Given the description of an element on the screen output the (x, y) to click on. 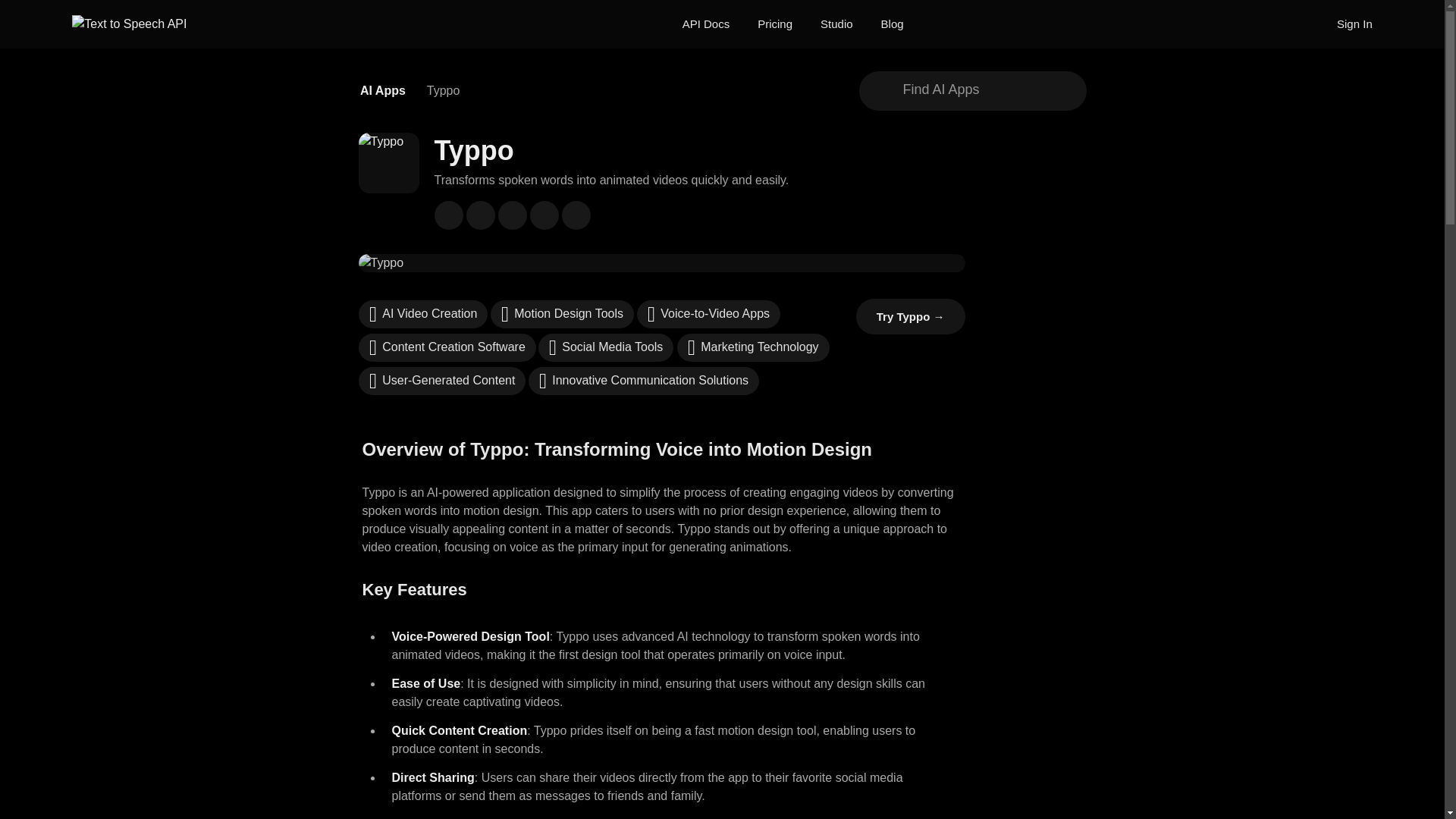
Share on X (480, 215)
Studio (837, 23)
Pricing (774, 23)
Copy Link (574, 215)
Share on LinkedIn (511, 215)
Blog (892, 23)
Share on Facebook (448, 215)
Sign In (1354, 23)
AI Apps (381, 90)
API Docs (706, 23)
Share on WhatsApp (543, 215)
